Given the description of an element on the screen output the (x, y) to click on. 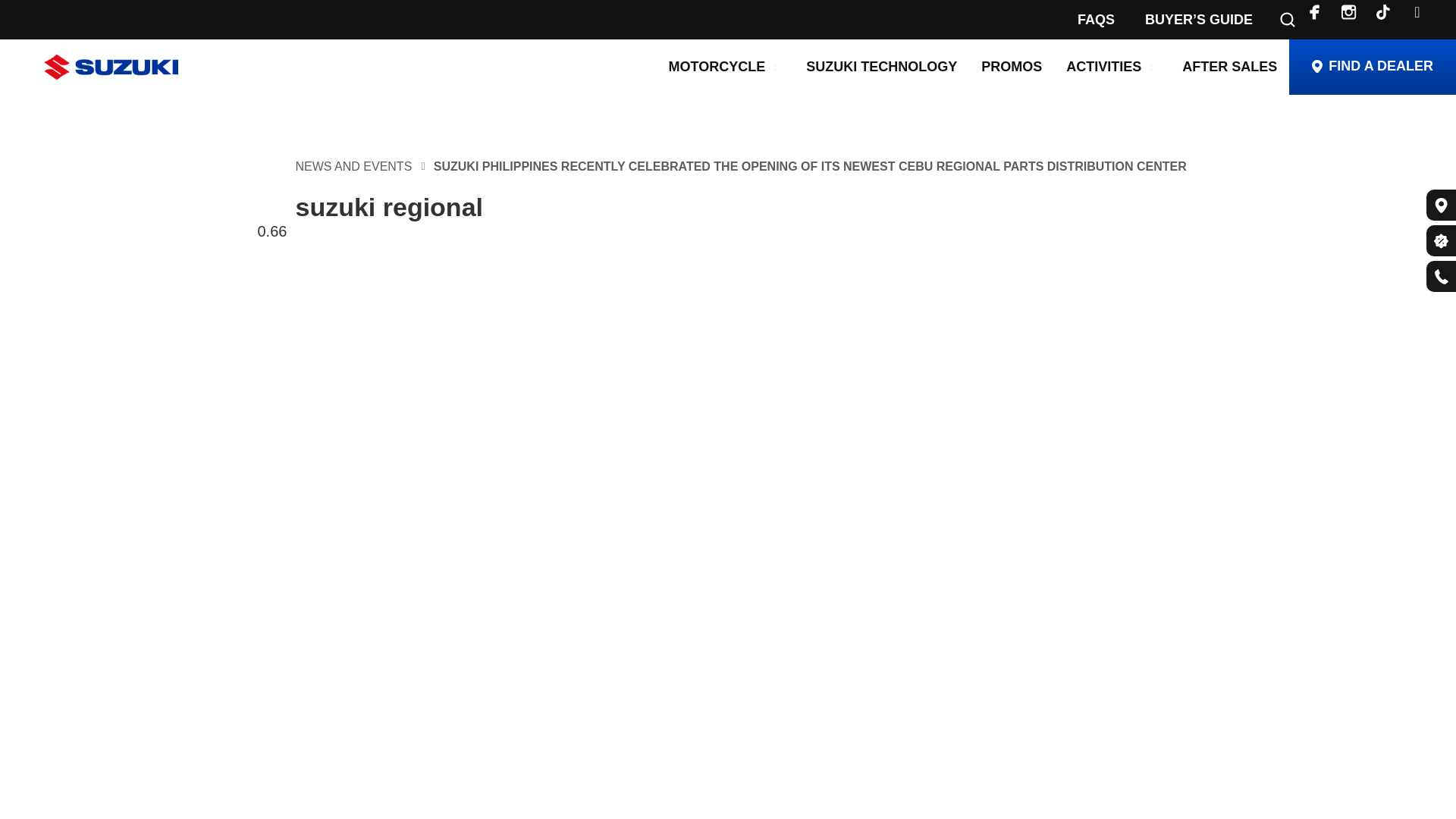
SUZUKI TECHNOLOGY (881, 66)
AFTER SALES (1229, 66)
MOTORCYCLE (716, 66)
PROMOS (1011, 66)
ACTIVITIES (1103, 66)
FAQS (1095, 19)
